Given the description of an element on the screen output the (x, y) to click on. 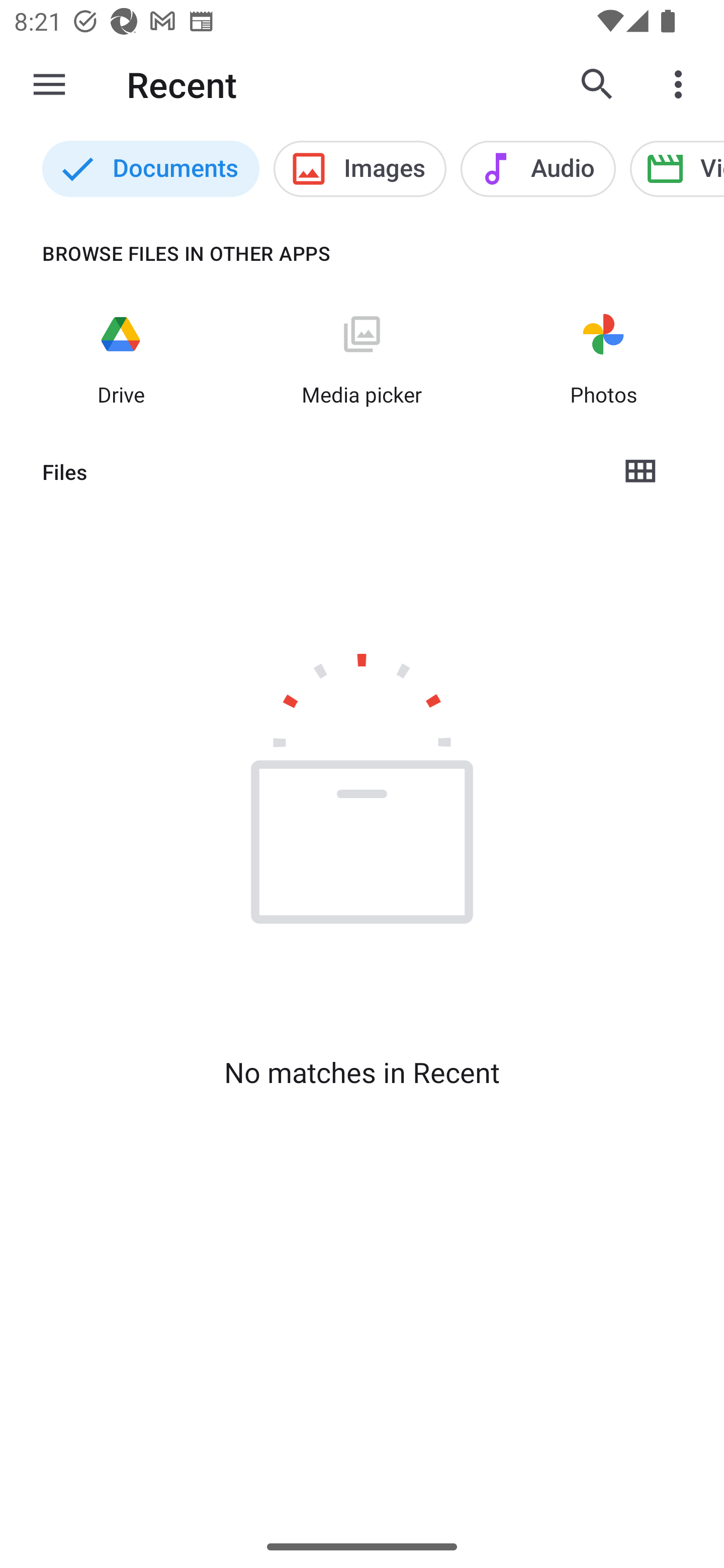
Show roots (49, 84)
Search (597, 84)
More options (681, 84)
Documents (150, 169)
Images (359, 169)
Audio (538, 169)
Videos (676, 169)
Drive (120, 356)
Media picker (361, 356)
Photos (603, 356)
Grid view (639, 471)
